Given the description of an element on the screen output the (x, y) to click on. 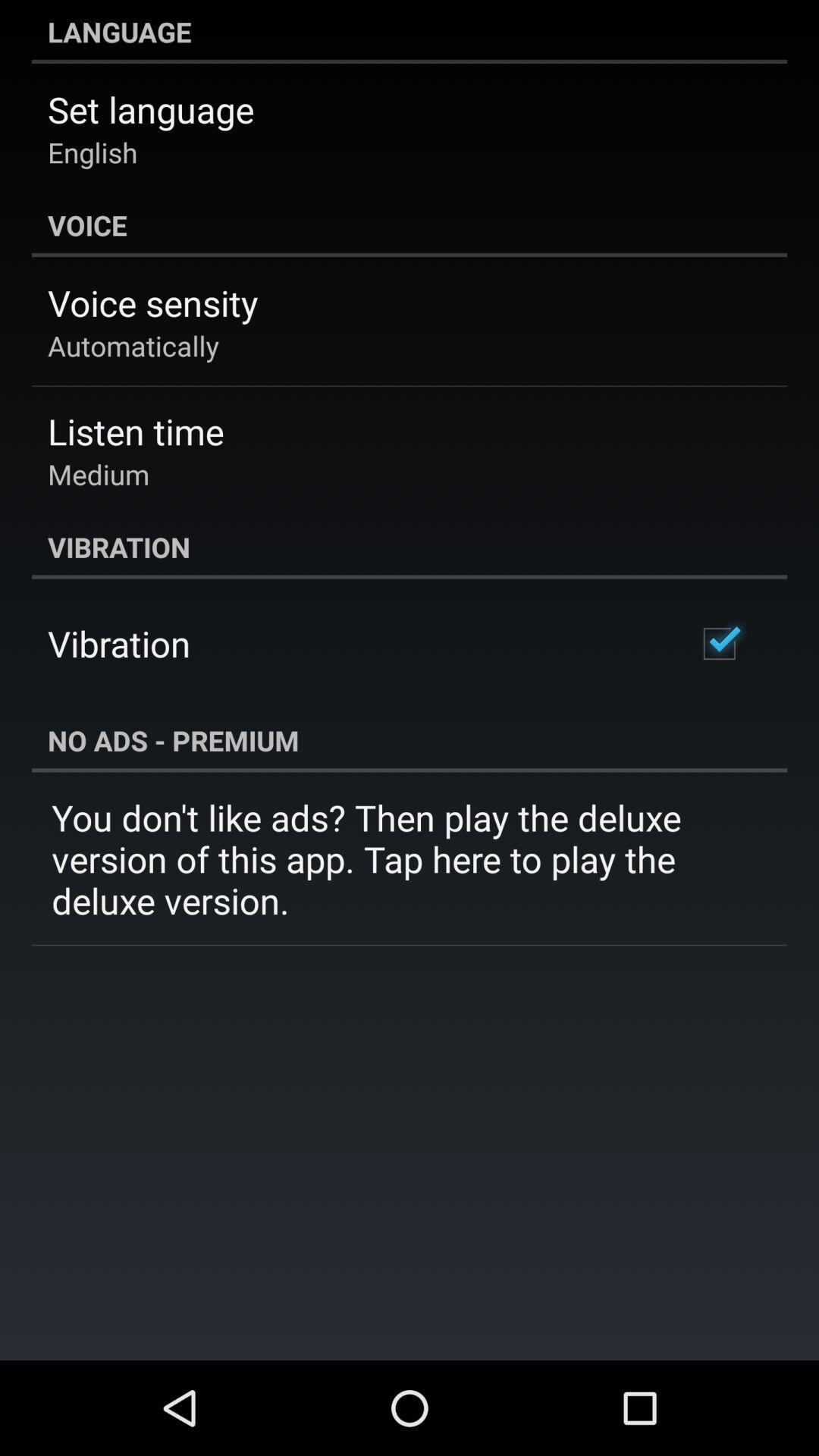
press listen time icon (135, 431)
